Given the description of an element on the screen output the (x, y) to click on. 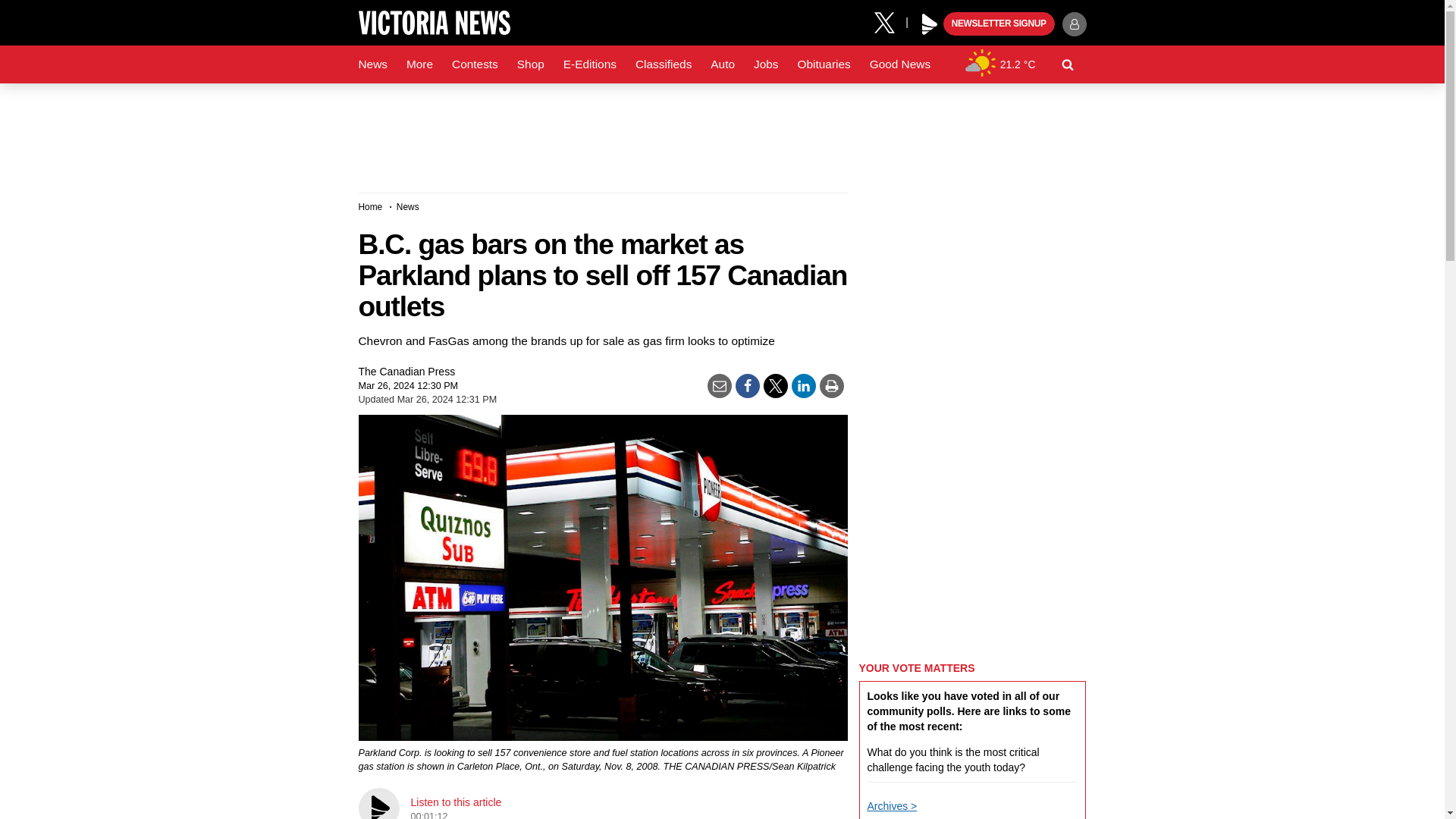
X (889, 21)
Play (929, 24)
3rd party ad content (721, 131)
NEWSLETTER SIGNUP (998, 24)
News (372, 64)
Black Press Media (929, 24)
